Given the description of an element on the screen output the (x, y) to click on. 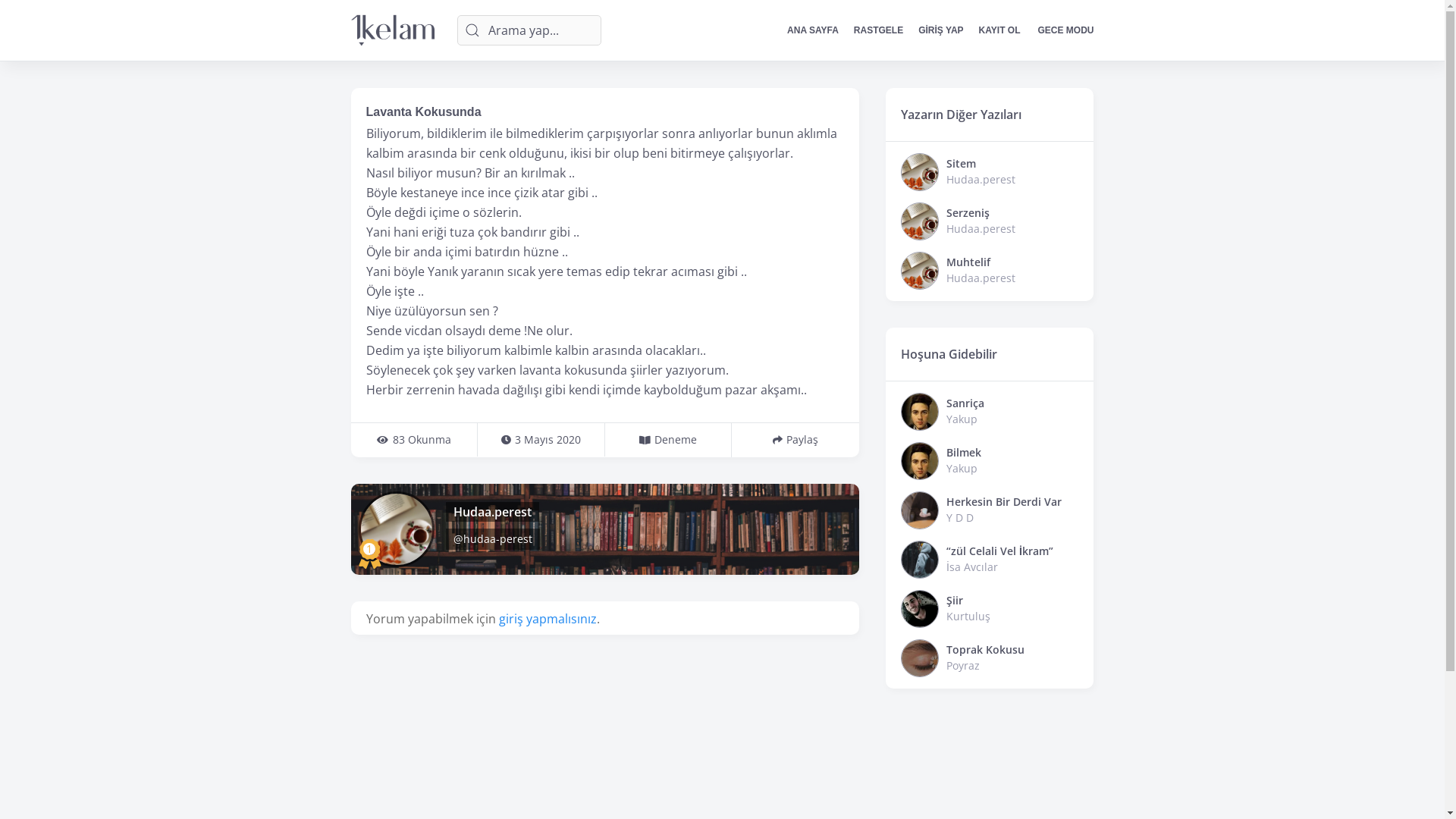
Hudaa.perest Element type: text (492, 511)
1Kelam Element type: hover (391, 30)
Deneme Element type: text (675, 439)
KAYIT OL Element type: text (999, 30)
GECE MODU Element type: text (1060, 30)
Muhtelif Element type: text (968, 261)
Herkesin Bir Derdi Var Element type: text (1003, 501)
Bilmek Element type: text (963, 452)
Sitem Element type: text (960, 163)
RASTGELE Element type: text (878, 30)
ANA SAYFA Element type: text (812, 30)
Toprak Kokusu Element type: text (985, 649)
